Given the description of an element on the screen output the (x, y) to click on. 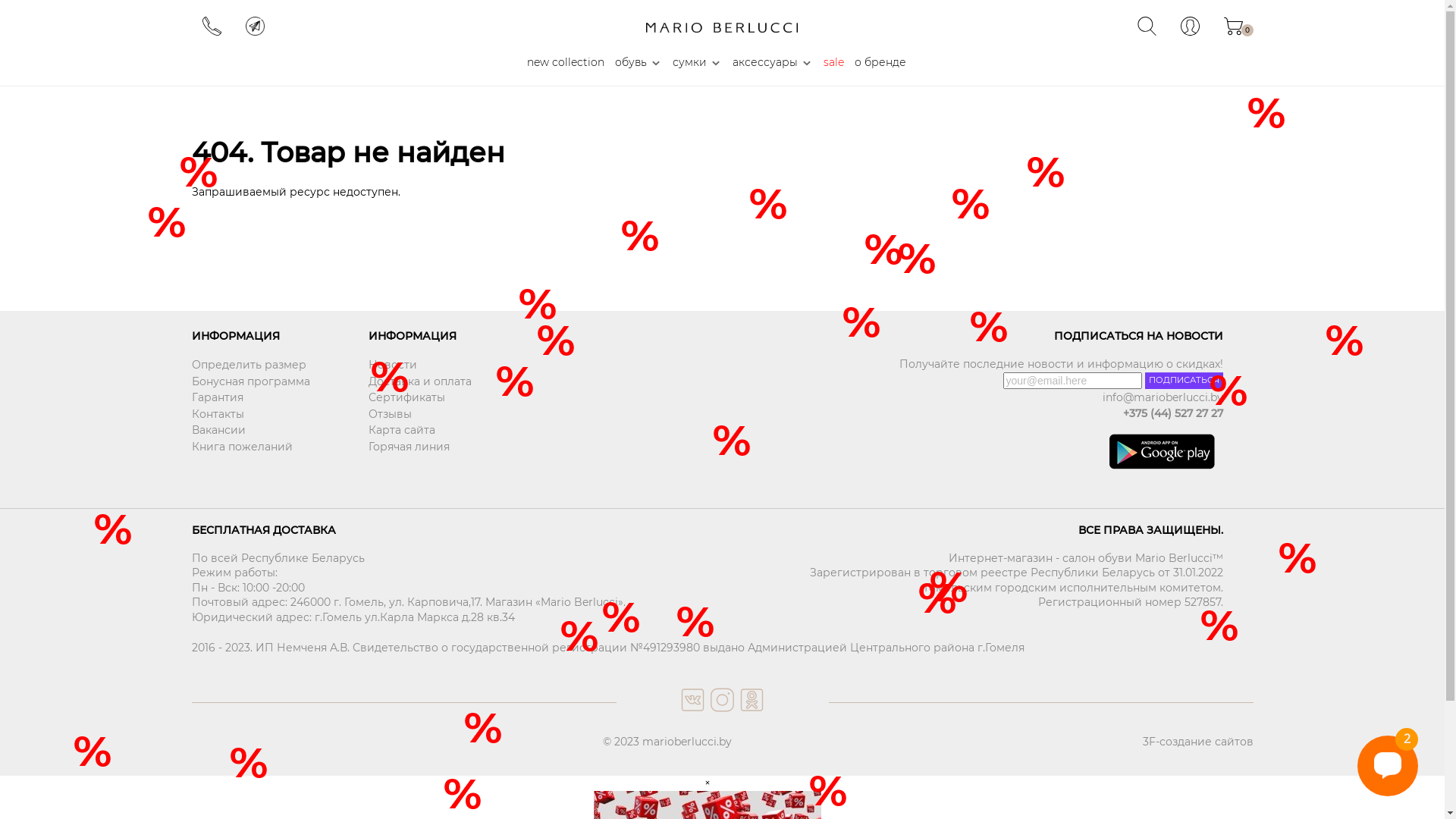
new collection Element type: text (565, 62)
0 Element type: text (1233, 31)
info@marioberlucci.by Element type: text (971, 397)
sale Element type: text (833, 62)
